Given the description of an element on the screen output the (x, y) to click on. 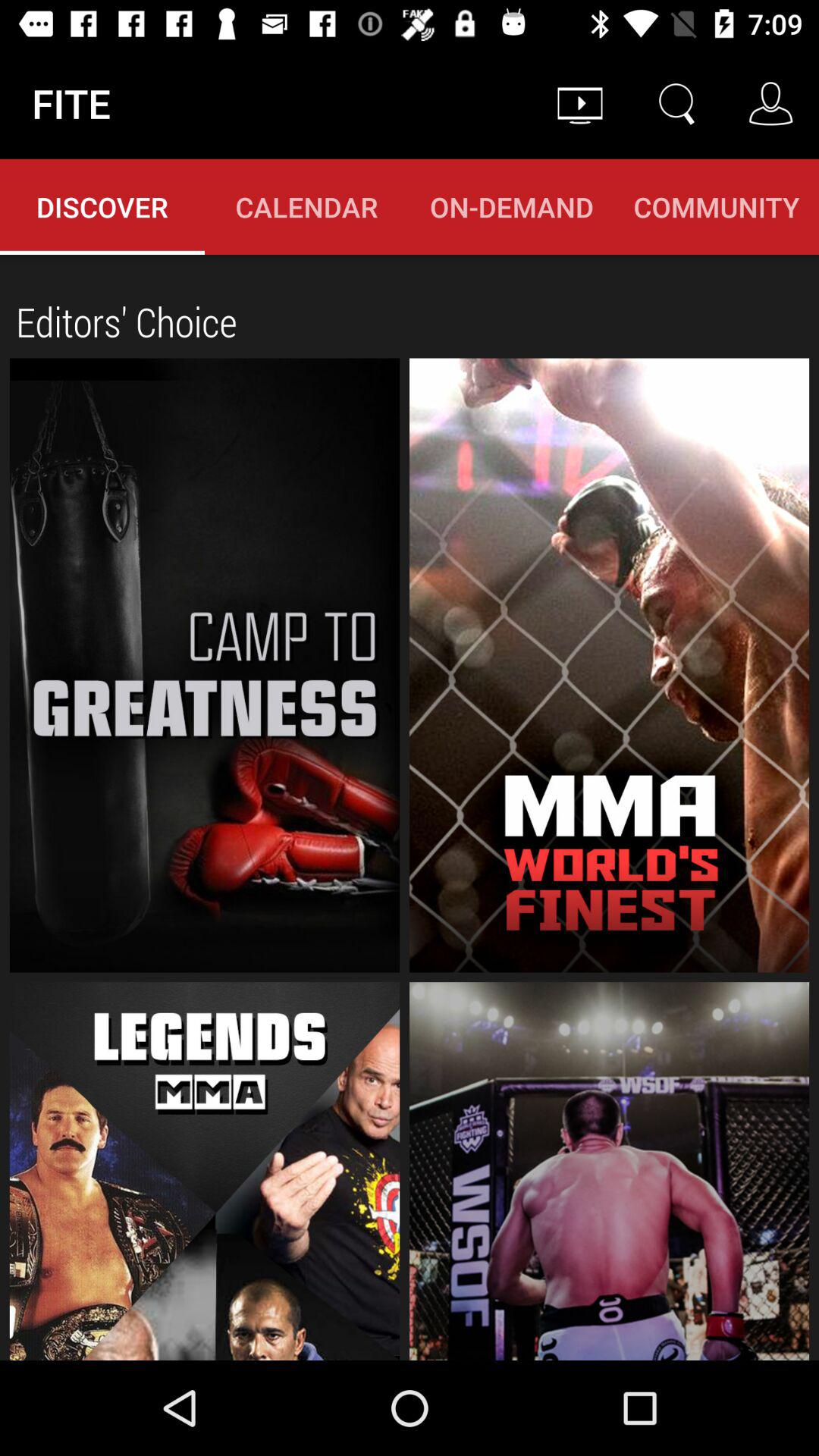
select the item above on-demand (579, 103)
